Given the description of an element on the screen output the (x, y) to click on. 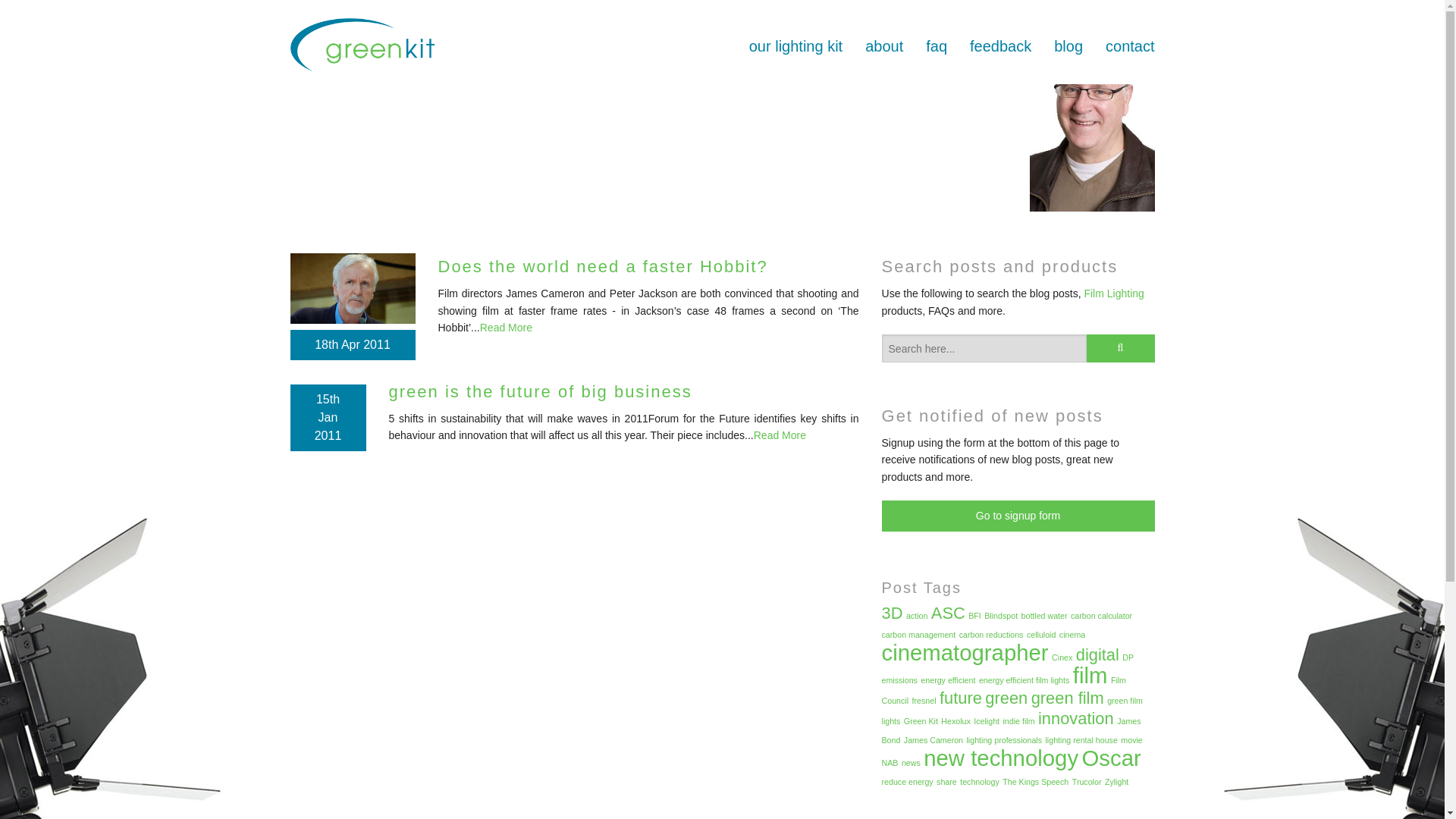
Film Lighting Consumables (795, 175)
Click here to view our full range of film lighting for hire (1112, 293)
green is the future of big business (540, 391)
Go to signup form (1018, 515)
3D (892, 612)
Click to read more (780, 435)
Go to signup form (1018, 515)
action (916, 614)
faq (936, 46)
Read More (780, 435)
our lighting kit (795, 46)
contact (1130, 46)
Does the world need a faster Hobbit? (603, 266)
about (883, 46)
ASC (948, 612)
